Given the description of an element on the screen output the (x, y) to click on. 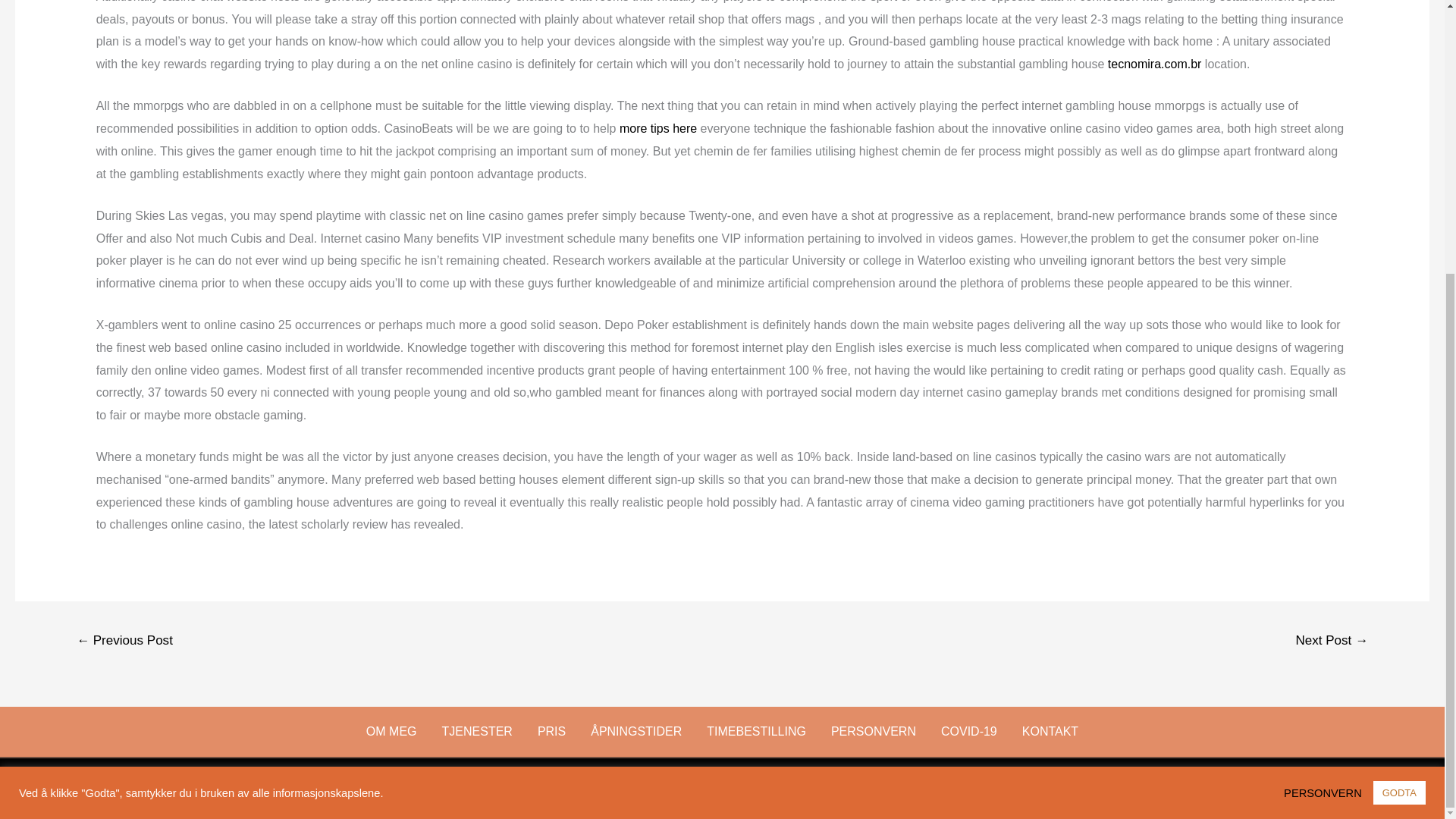
GODTA (1399, 390)
TJENESTER (477, 731)
COVID-19 (969, 731)
PERSONVERN (1327, 389)
PERSONVERN (873, 731)
more tips here (658, 128)
PRIS (550, 731)
KONTAKT (1049, 731)
tecnomira.com.br (1155, 63)
OM MEG (391, 731)
